Given the description of an element on the screen output the (x, y) to click on. 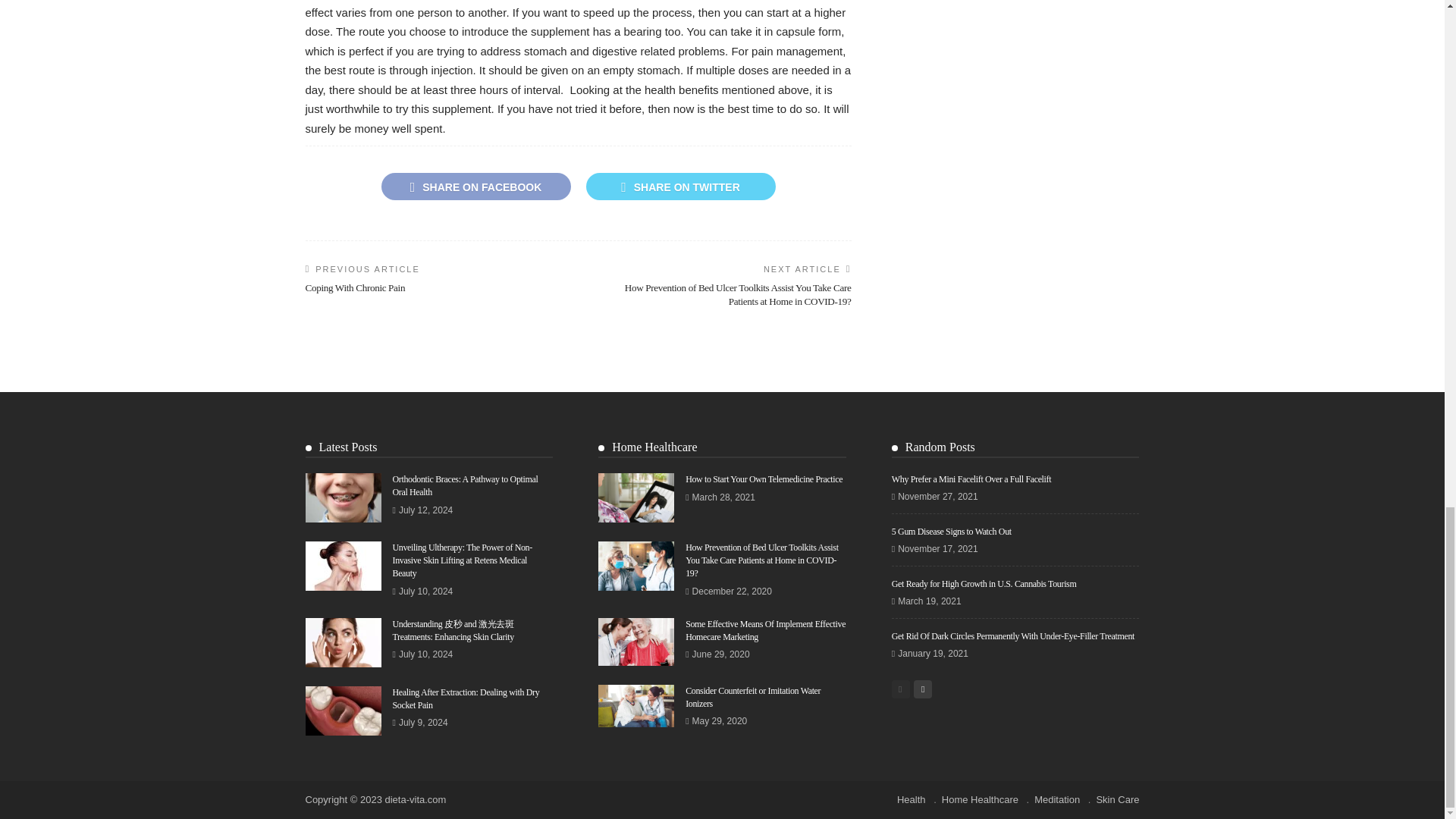
Coping With Chronic Pain (354, 286)
Coping With Chronic Pain (354, 286)
SHARE ON FACEBOOK (475, 185)
SHARE ON TWITTER (679, 185)
